Given the description of an element on the screen output the (x, y) to click on. 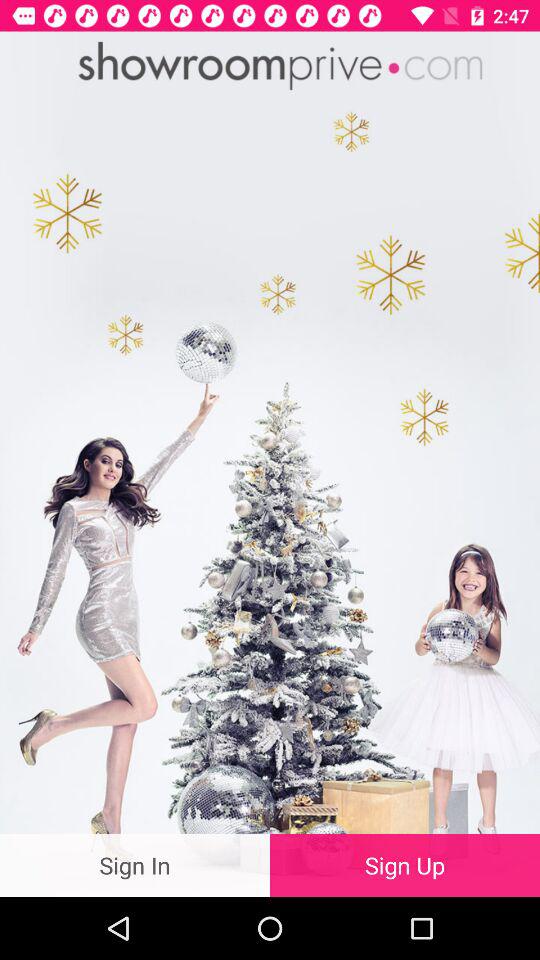
launch the item at the bottom left corner (135, 864)
